Given the description of an element on the screen output the (x, y) to click on. 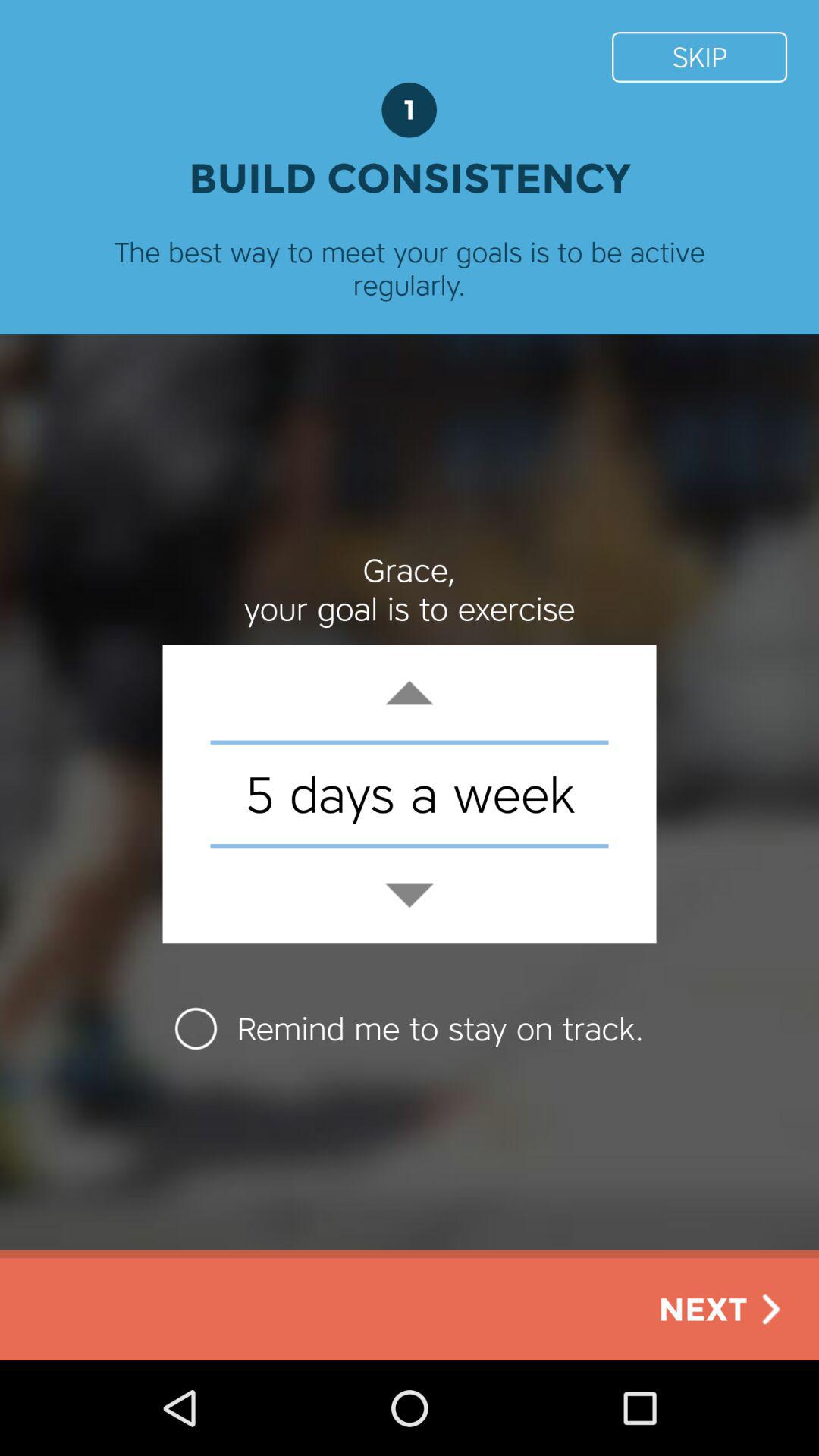
swipe to next icon (722, 1309)
